Given the description of an element on the screen output the (x, y) to click on. 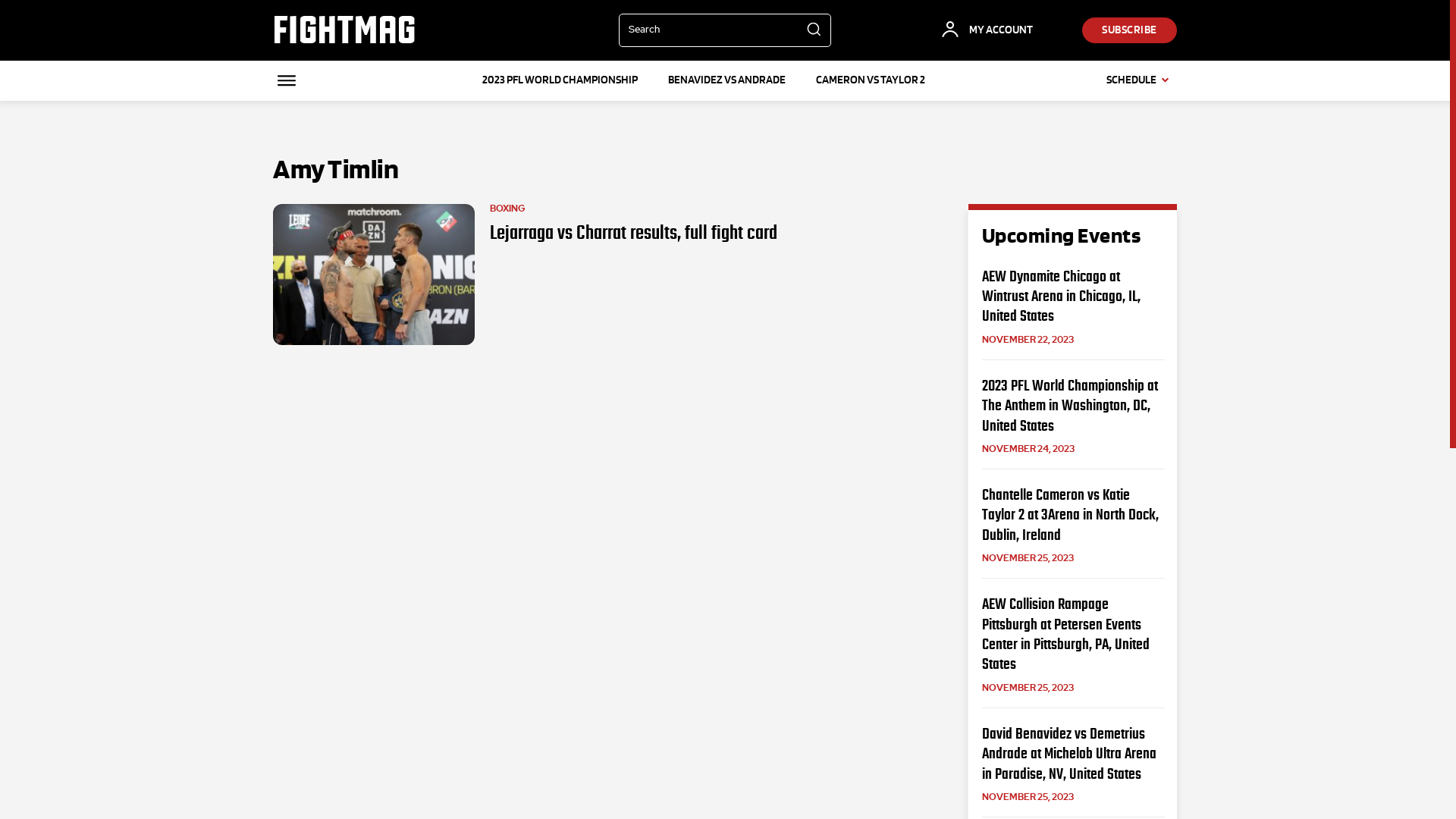
BENAVIDEZ VS ANDRADE Element type: text (725, 80)
FIGHTMAG Element type: text (344, 30)
SUBSCRIBE Element type: text (1129, 30)
SCHEDULE Element type: text (1141, 80)
Lejarraga vs Charrat results, full fight card Element type: text (633, 232)
CAMERON VS TAYLOR 2 Element type: text (870, 80)
Lejarraga vs Charrat results, full fight card Element type: hover (373, 274)
2023 PFL WORLD CHAMPIONSHIP Element type: text (559, 80)
BOXING Element type: text (507, 208)
